Given the description of an element on the screen output the (x, y) to click on. 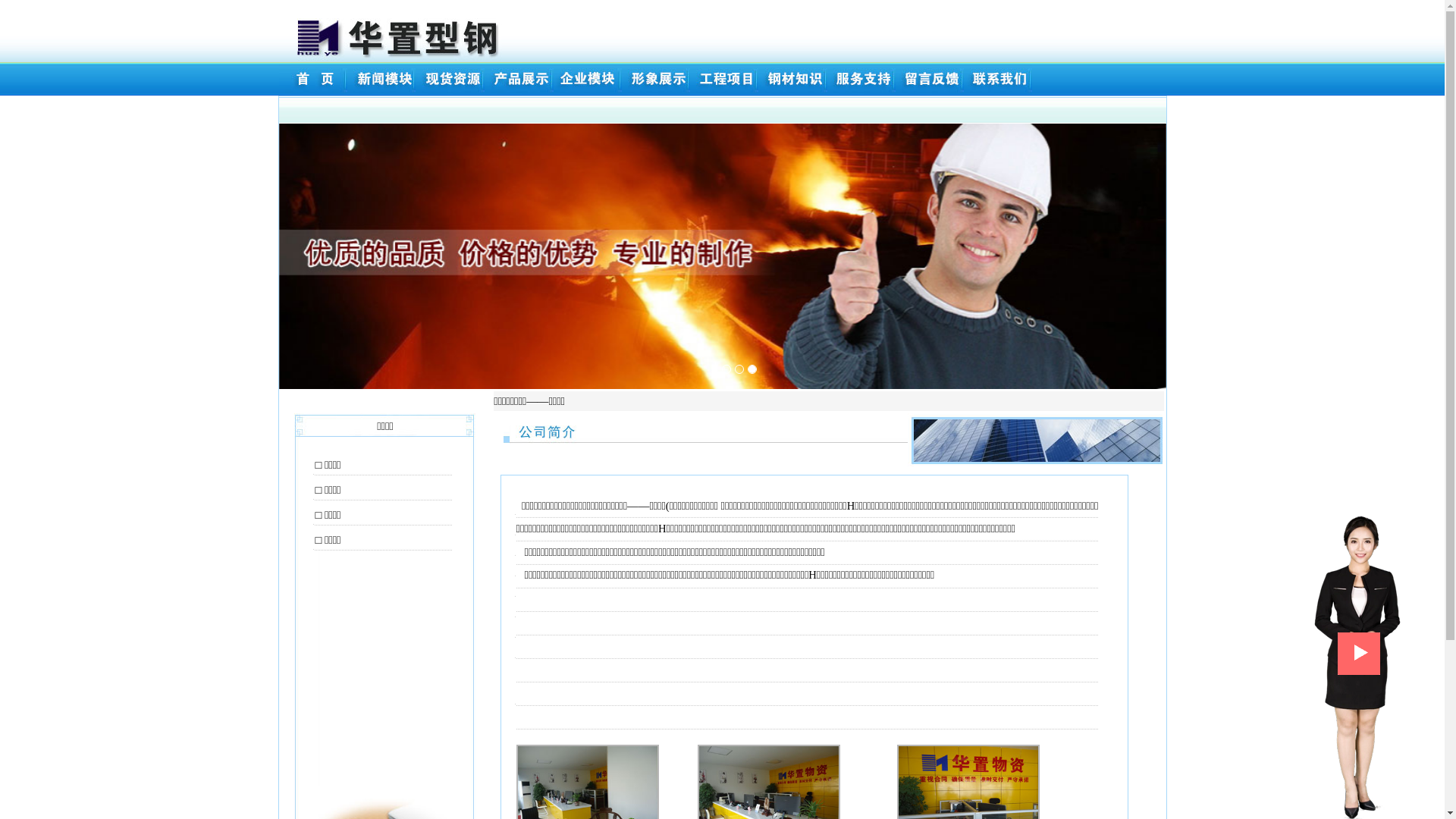
2 Element type: text (739, 369)
3 Element type: text (752, 369)
1 Element type: text (726, 369)
